Given the description of an element on the screen output the (x, y) to click on. 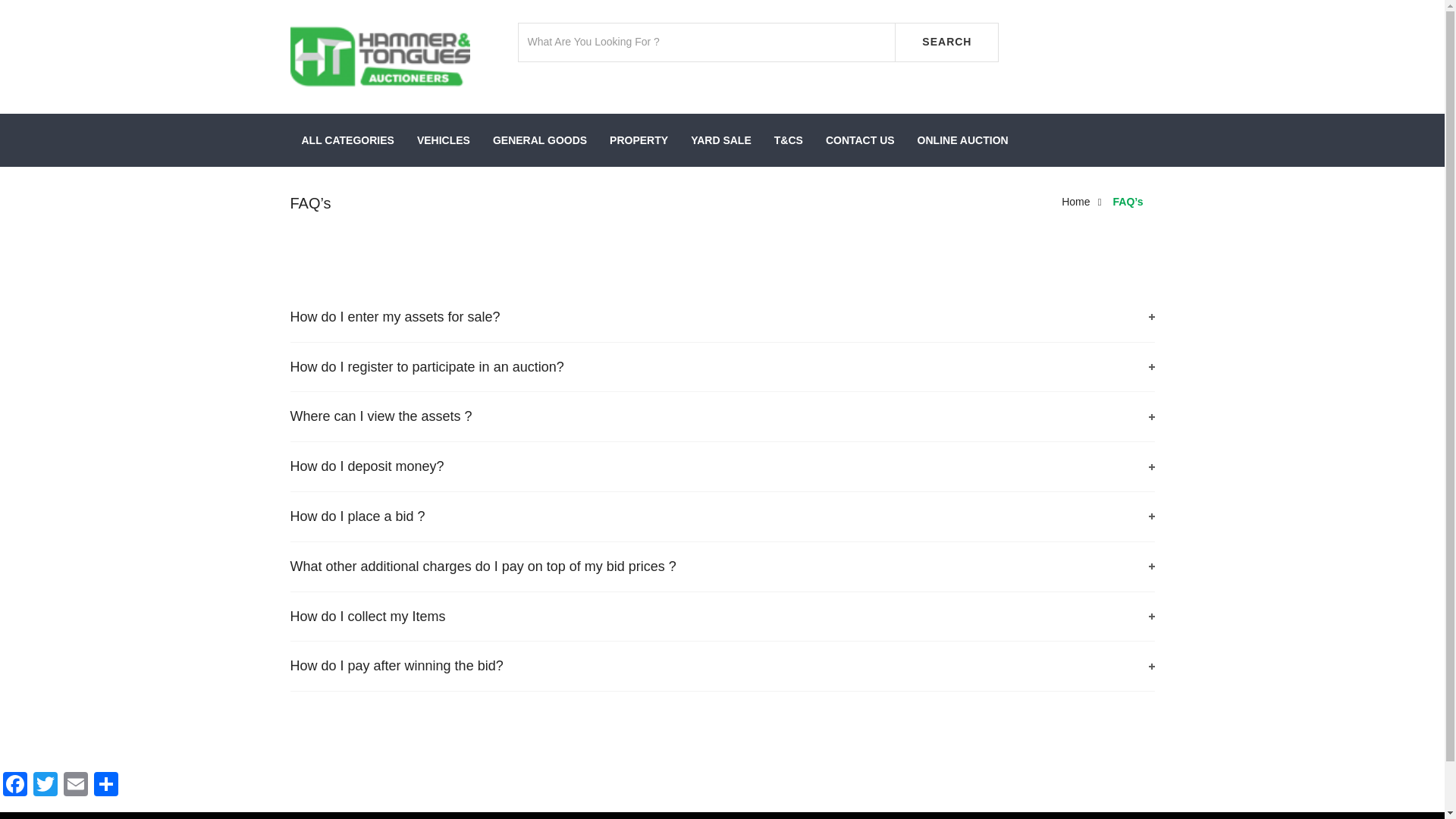
Facebook (15, 786)
GENERAL GOODS (539, 139)
Facebook (15, 786)
Twitter (45, 786)
Email (75, 786)
ALL CATEGORIES (346, 139)
Twitter (45, 786)
How do I deposit money? (721, 466)
SEARCH (946, 42)
How do I pay after winning the bid? (721, 666)
How do I enter my assets for sale? (721, 317)
YARD SALE (720, 139)
Share (105, 786)
How do I register to participate in an auction? (721, 367)
